Given the description of an element on the screen output the (x, y) to click on. 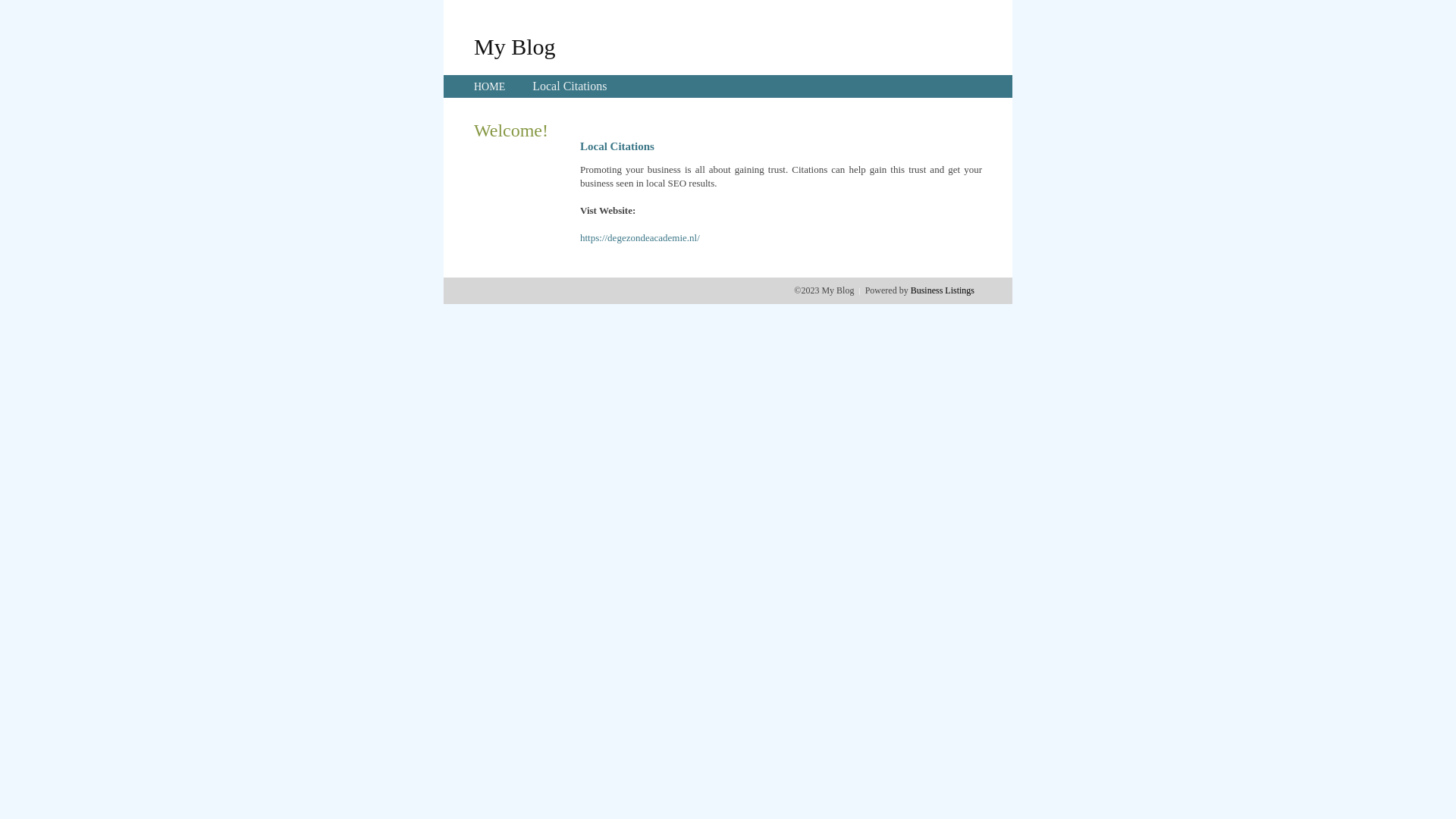
My Blog Element type: text (514, 46)
Local Citations Element type: text (569, 85)
https://degezondeacademie.nl/ Element type: text (639, 237)
Business Listings Element type: text (942, 290)
HOME Element type: text (489, 86)
